Given the description of an element on the screen output the (x, y) to click on. 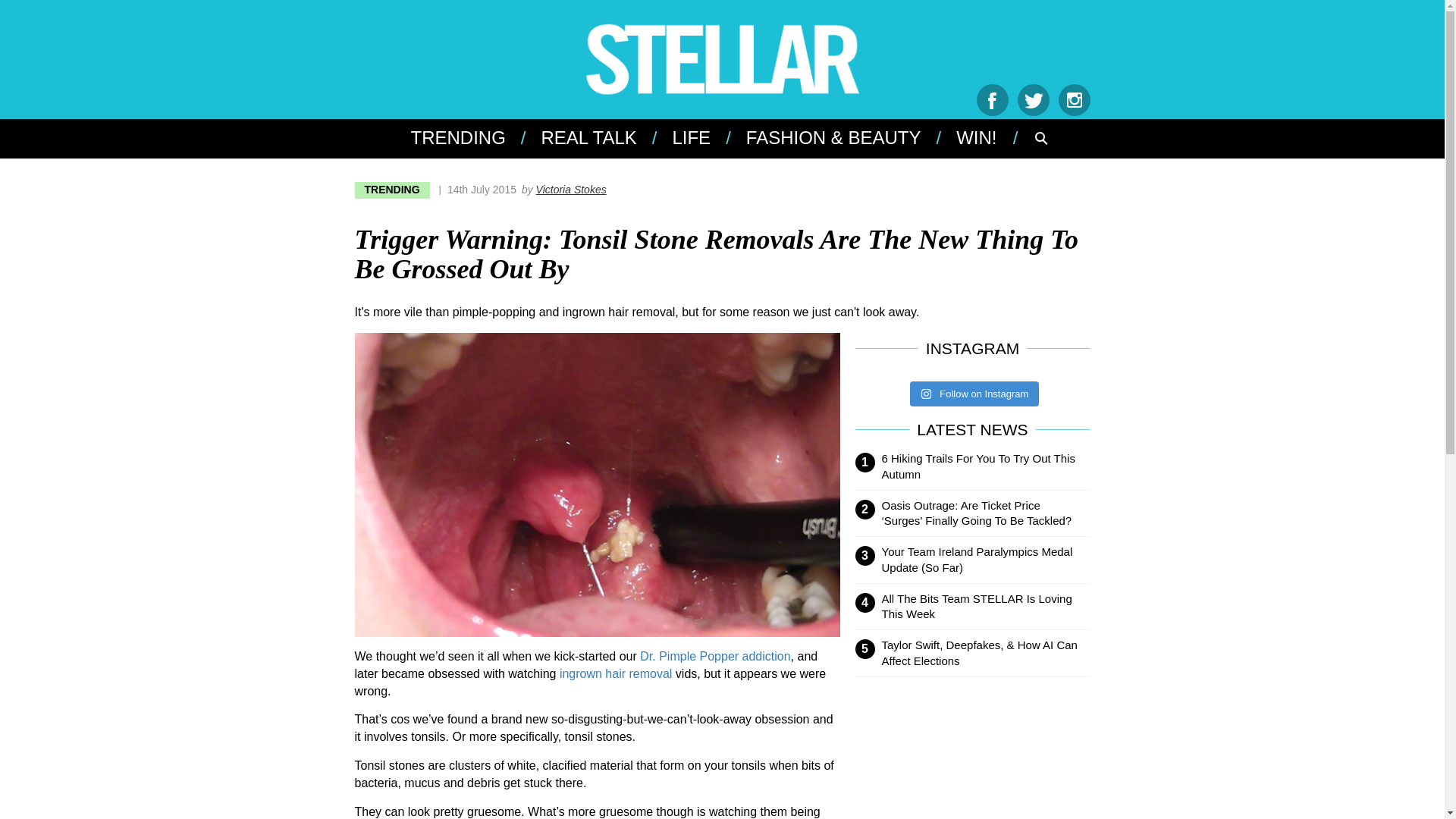
TRENDING (464, 137)
WIN! (973, 137)
Facebook (992, 100)
TRENDING (392, 190)
Trending (464, 137)
REAL TALK (586, 137)
Instagram (1074, 100)
Follow on Instagram (974, 394)
Victoria Stokes (571, 189)
LIFE (688, 137)
